Given the description of an element on the screen output the (x, y) to click on. 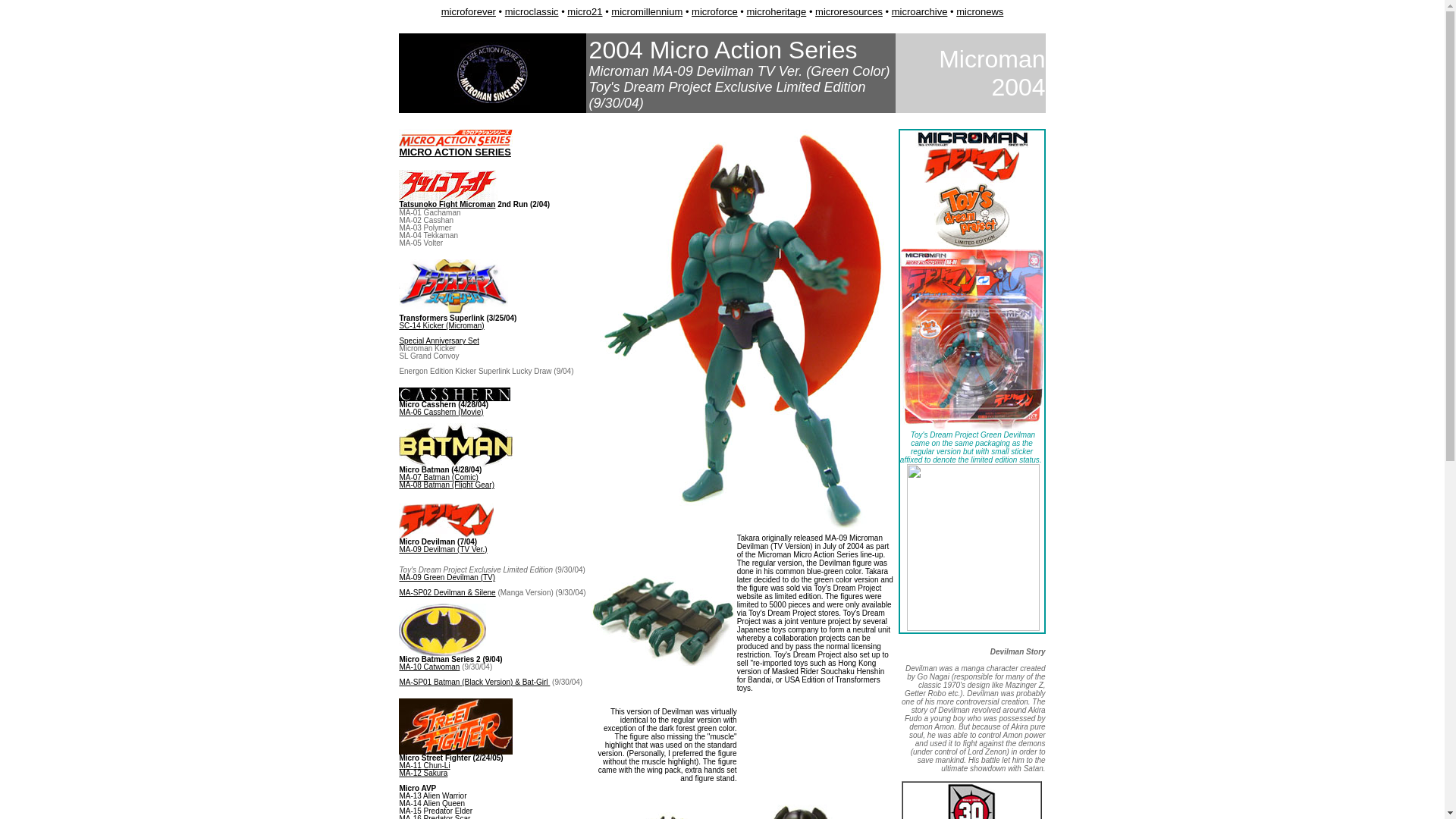
microheritage (776, 11)
microforce (714, 11)
microclassic (532, 11)
microarchive (919, 11)
microforever (468, 11)
MA-10 Catwoman (429, 666)
MA-12 Sakura (422, 773)
MICRO ACTION SERIES (454, 151)
Special Anniversary Set (438, 340)
micromillennium (646, 11)
Tatsunoko Fight Microman (446, 203)
microresources (848, 11)
micronews (979, 11)
MA-11 Chun-Li (423, 765)
micro21 (584, 11)
